Given the description of an element on the screen output the (x, y) to click on. 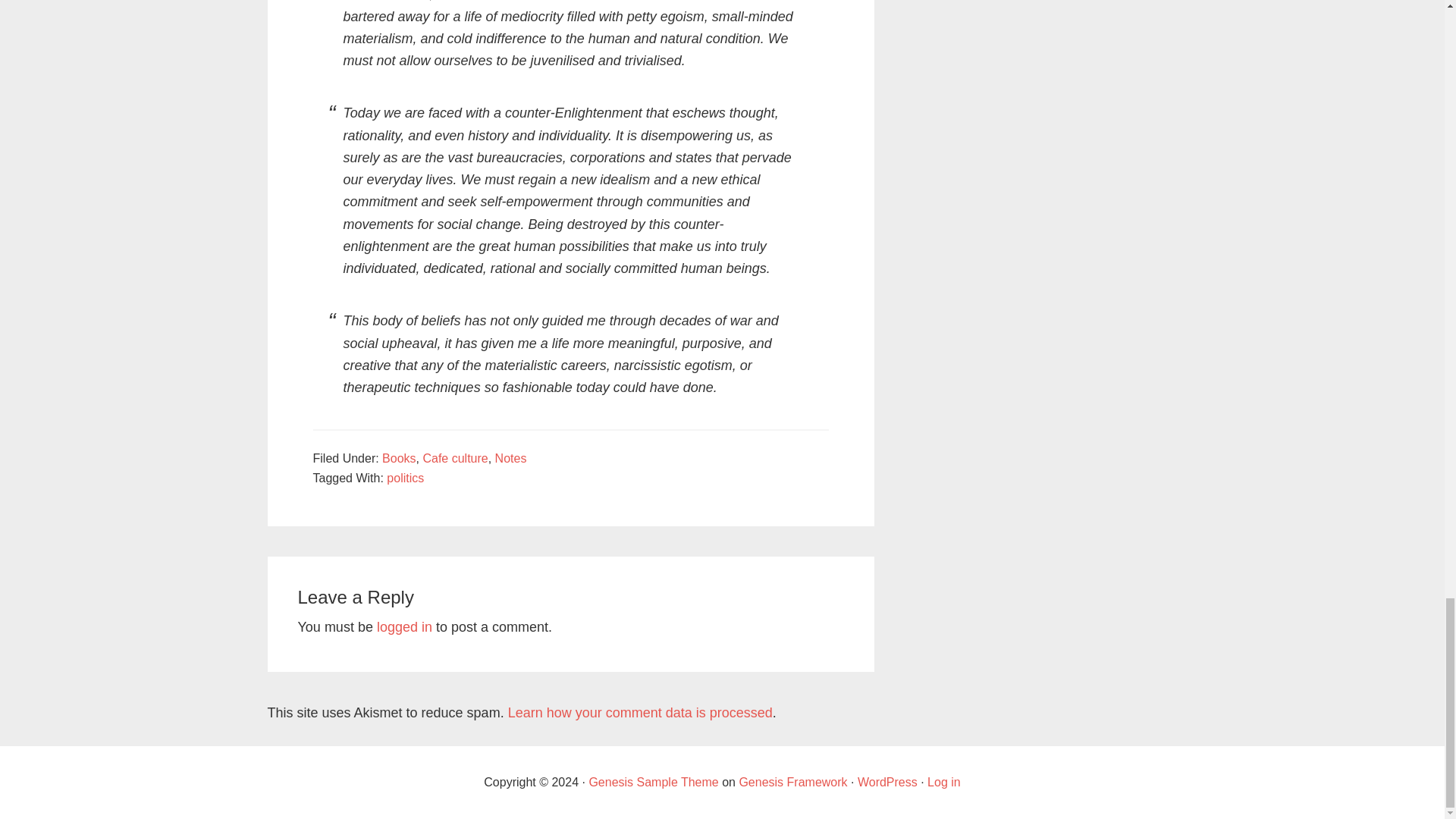
logged in (404, 626)
Books (397, 458)
Cafe culture (454, 458)
politics (405, 477)
Notes (511, 458)
Learn how your comment data is processed (640, 712)
